Given the description of an element on the screen output the (x, y) to click on. 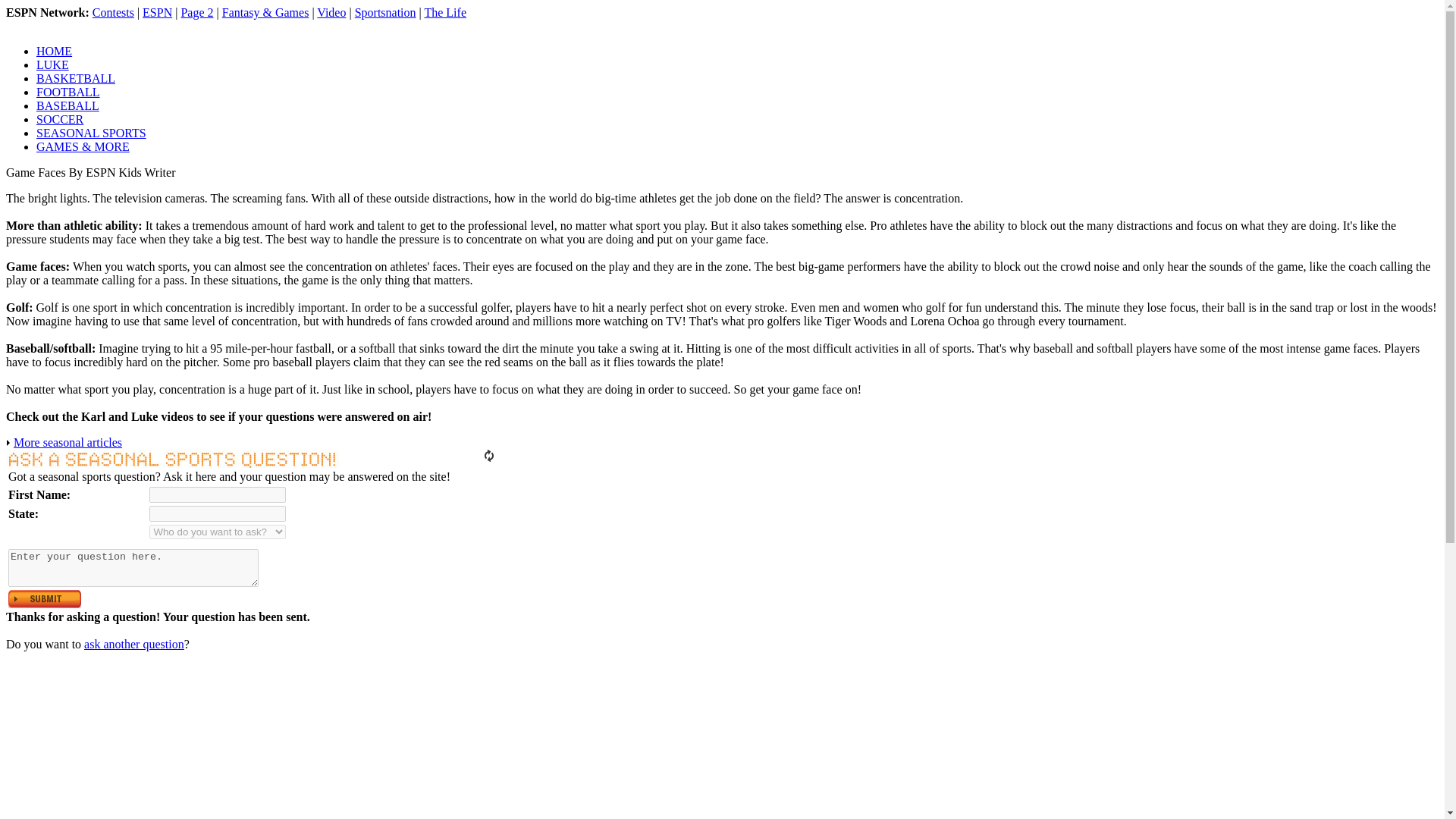
More seasonal articles (67, 441)
The Life (444, 11)
LUKE (52, 64)
Contests (113, 11)
ask another question (134, 644)
ESPN (156, 11)
HOME (53, 51)
BASKETBALL (75, 78)
Sportsnation (385, 11)
FOOTBALL (68, 91)
